Given the description of an element on the screen output the (x, y) to click on. 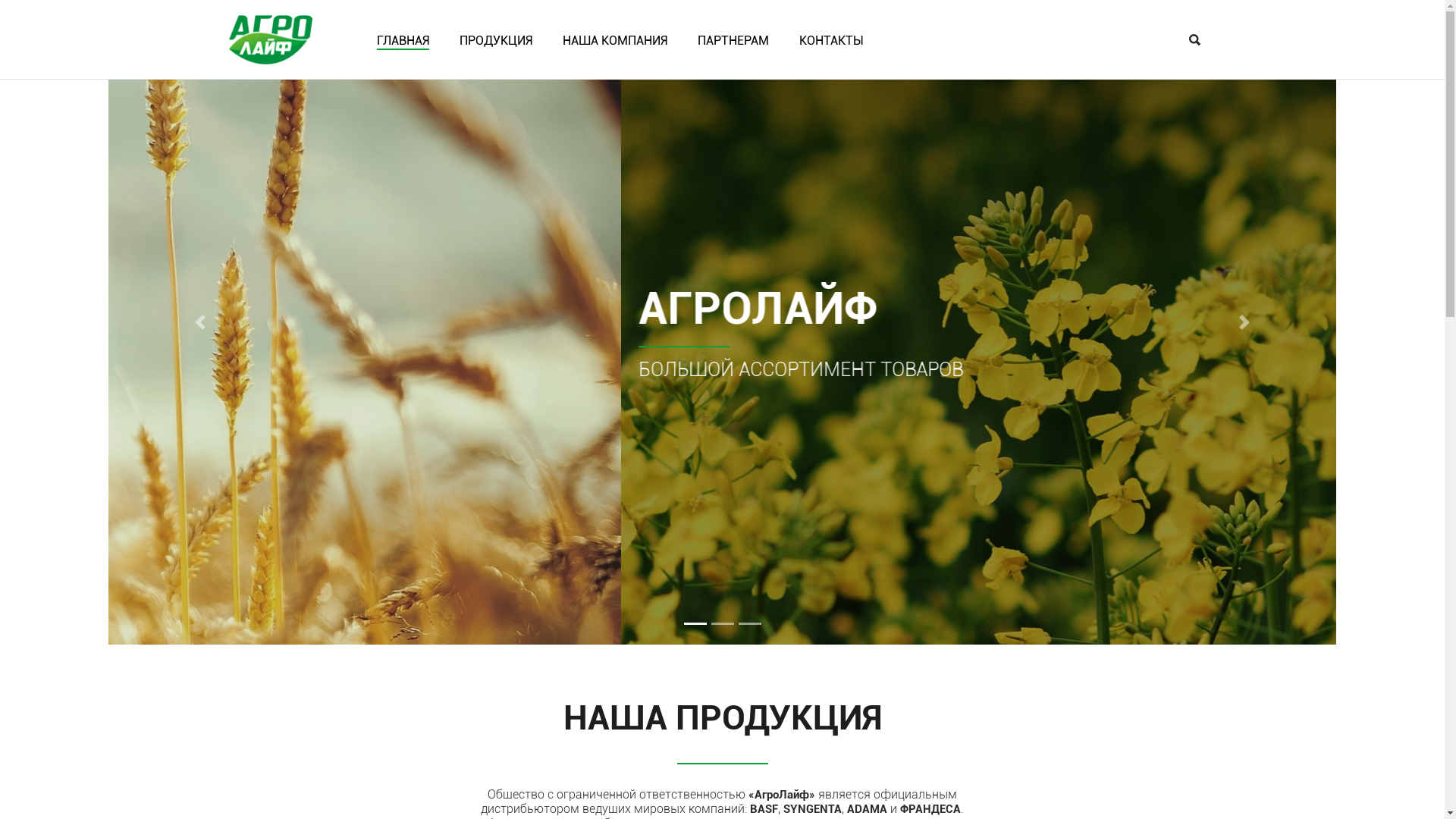
Next Element type: text (1243, 322)
Previous Element type: text (200, 322)
